Given the description of an element on the screen output the (x, y) to click on. 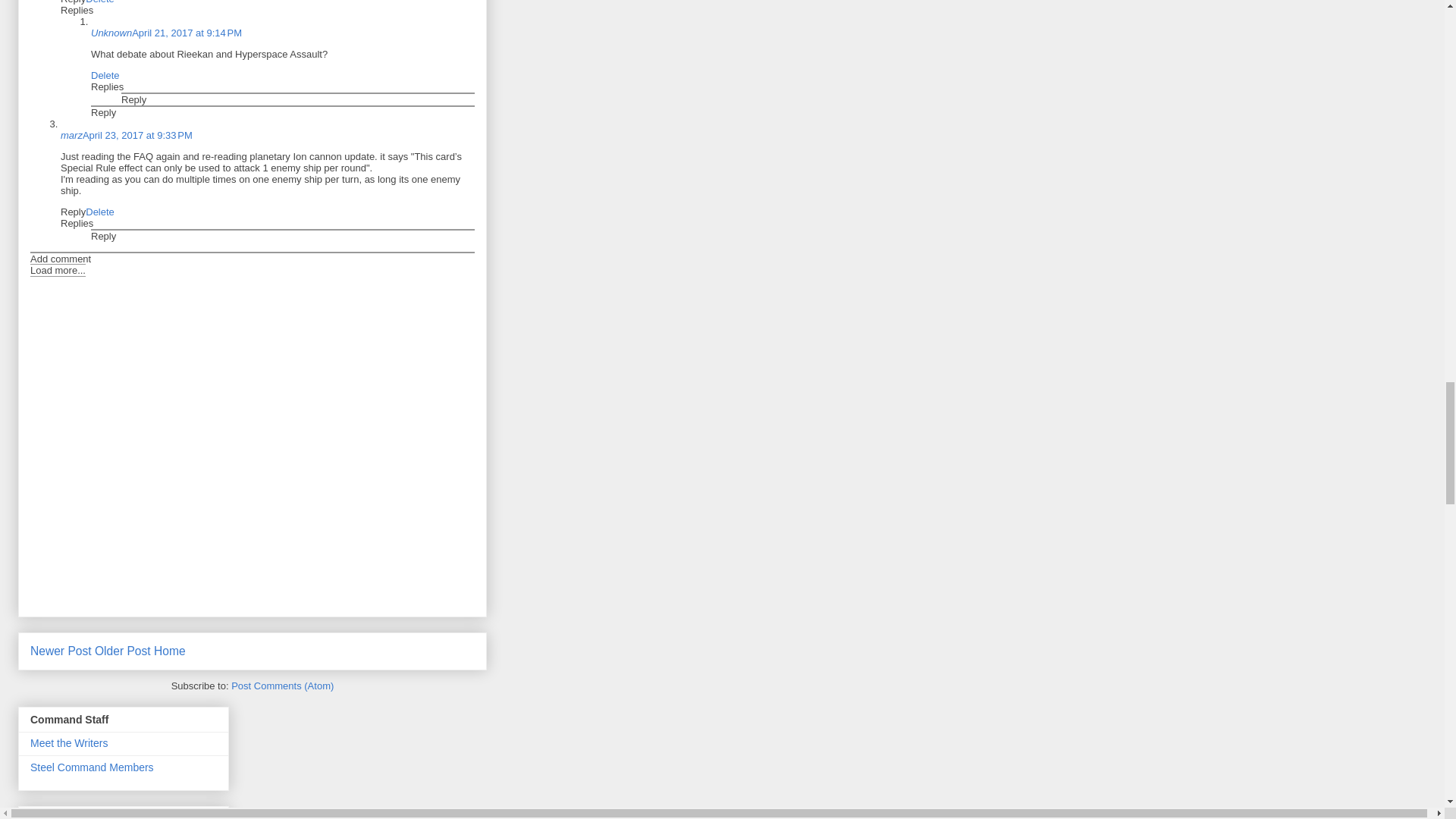
Reply (73, 2)
Older Post (122, 650)
Replies (77, 9)
Unknown (111, 32)
Replies (106, 86)
Delete (104, 75)
Delete (100, 2)
Newer Post (60, 650)
